Given the description of an element on the screen output the (x, y) to click on. 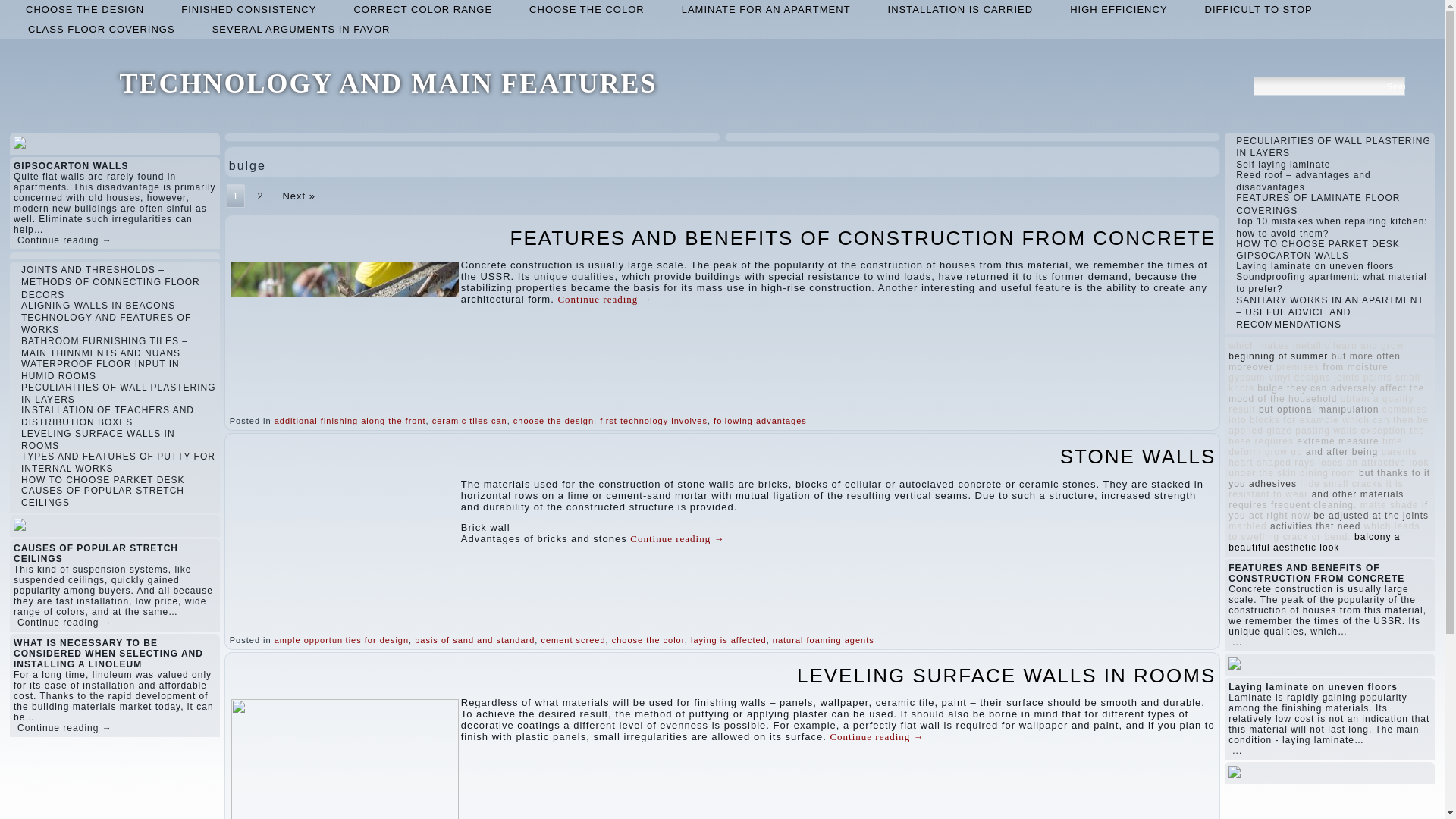
CLASS FLOOR COVERINGS (101, 29)
basis of sand and standard (474, 639)
FEATURES AND BENEFITS OF CONSTRUCTION FROM CONCRETE (863, 237)
LEVELING SURFACE WALLS IN ROOMS (97, 438)
CORRECT COLOR RANGE (422, 9)
Search (1396, 85)
DIFFICULT TO STOP (1258, 9)
LAMINATE FOR AN APARTMENT (766, 9)
INSTALLATION OF TEACHERS AND DISTRIBUTION BOXES (107, 415)
difficult to stop (1258, 9)
class floor coverings (101, 29)
correct color range (422, 9)
ample opportunities for design (342, 639)
INSTALLATION IS CARRIED (959, 9)
first technology involves (653, 420)
